Given the description of an element on the screen output the (x, y) to click on. 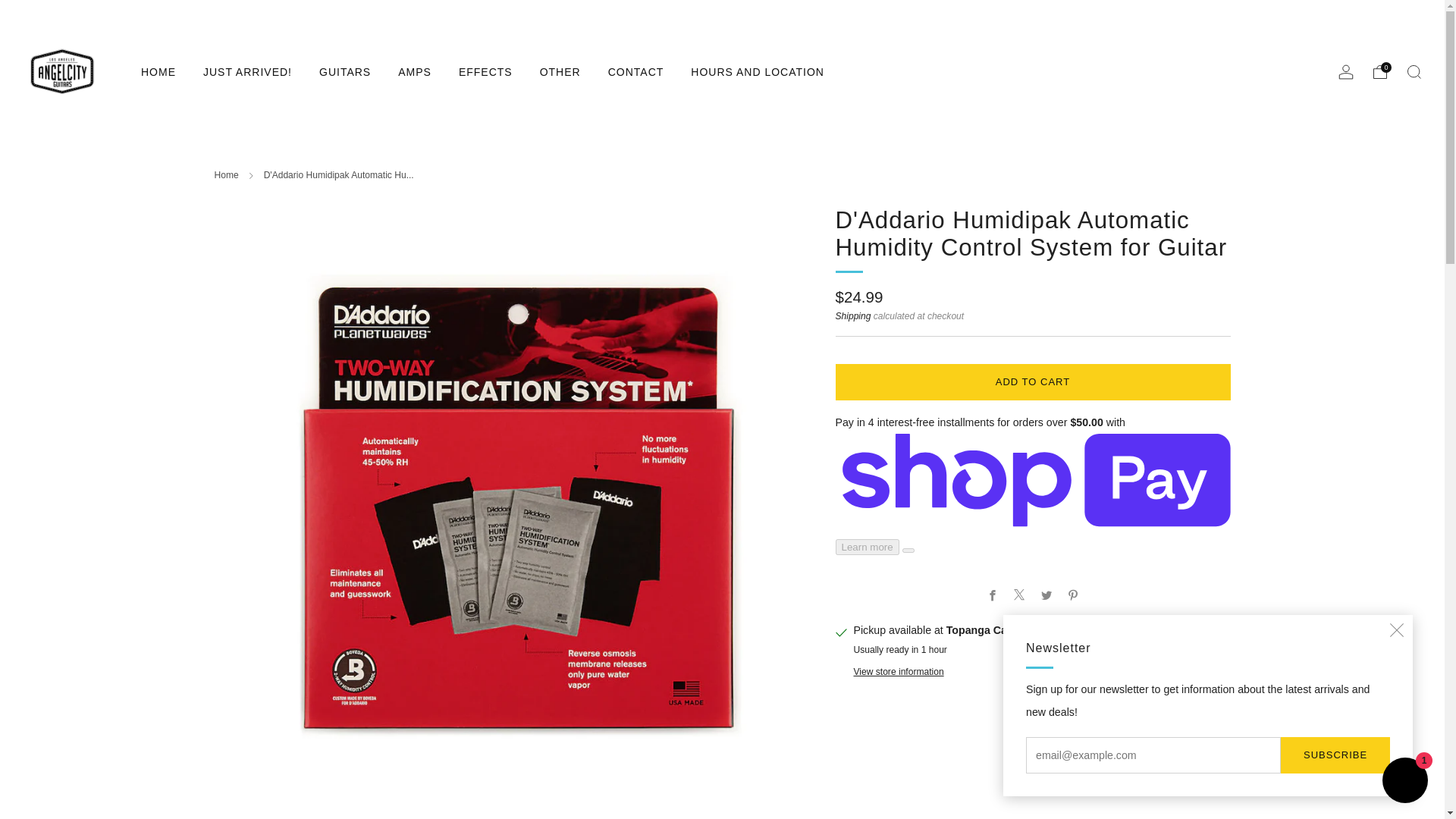
Home (226, 174)
JUST ARRIVED! (247, 70)
GUITARS (344, 70)
HOME (158, 70)
